Given the description of an element on the screen output the (x, y) to click on. 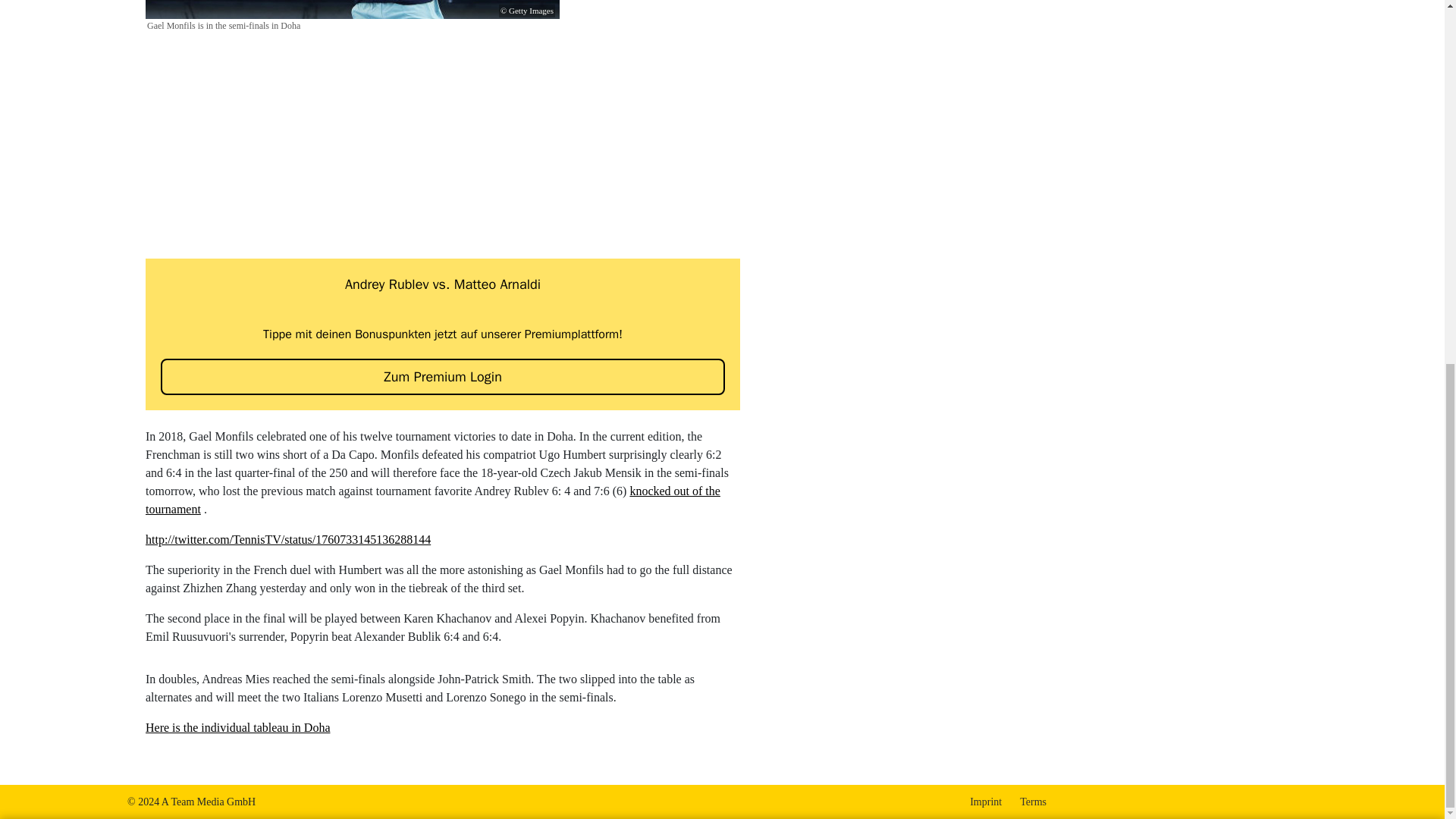
Gael Monfils steht in Doha im Halbfinale (352, 9)
Here is the individual tableau in Doha (238, 190)
knocked out of the tournament (237, 727)
